Given the description of an element on the screen output the (x, y) to click on. 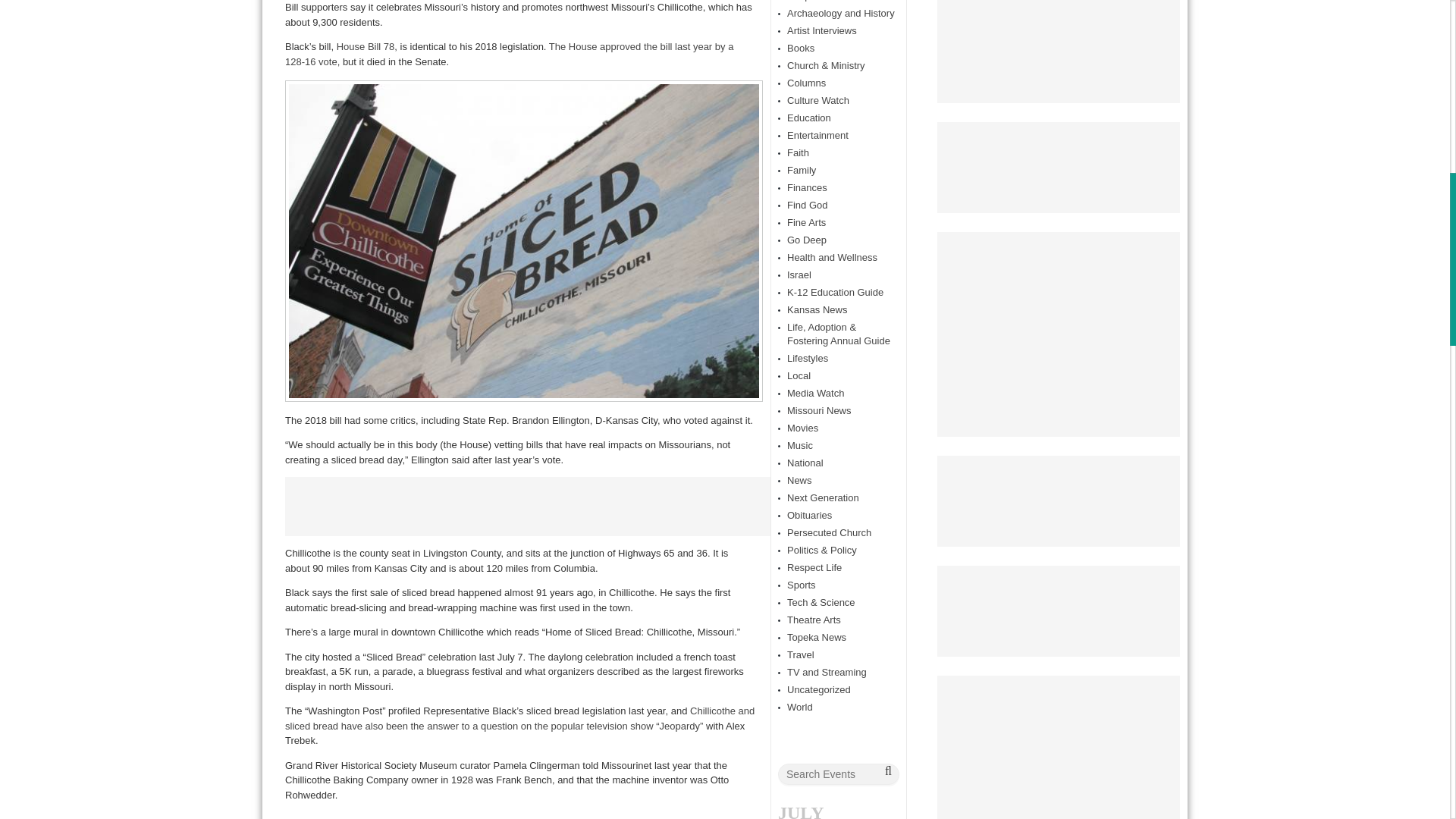
3rd party ad content (527, 506)
